Given the description of an element on the screen output the (x, y) to click on. 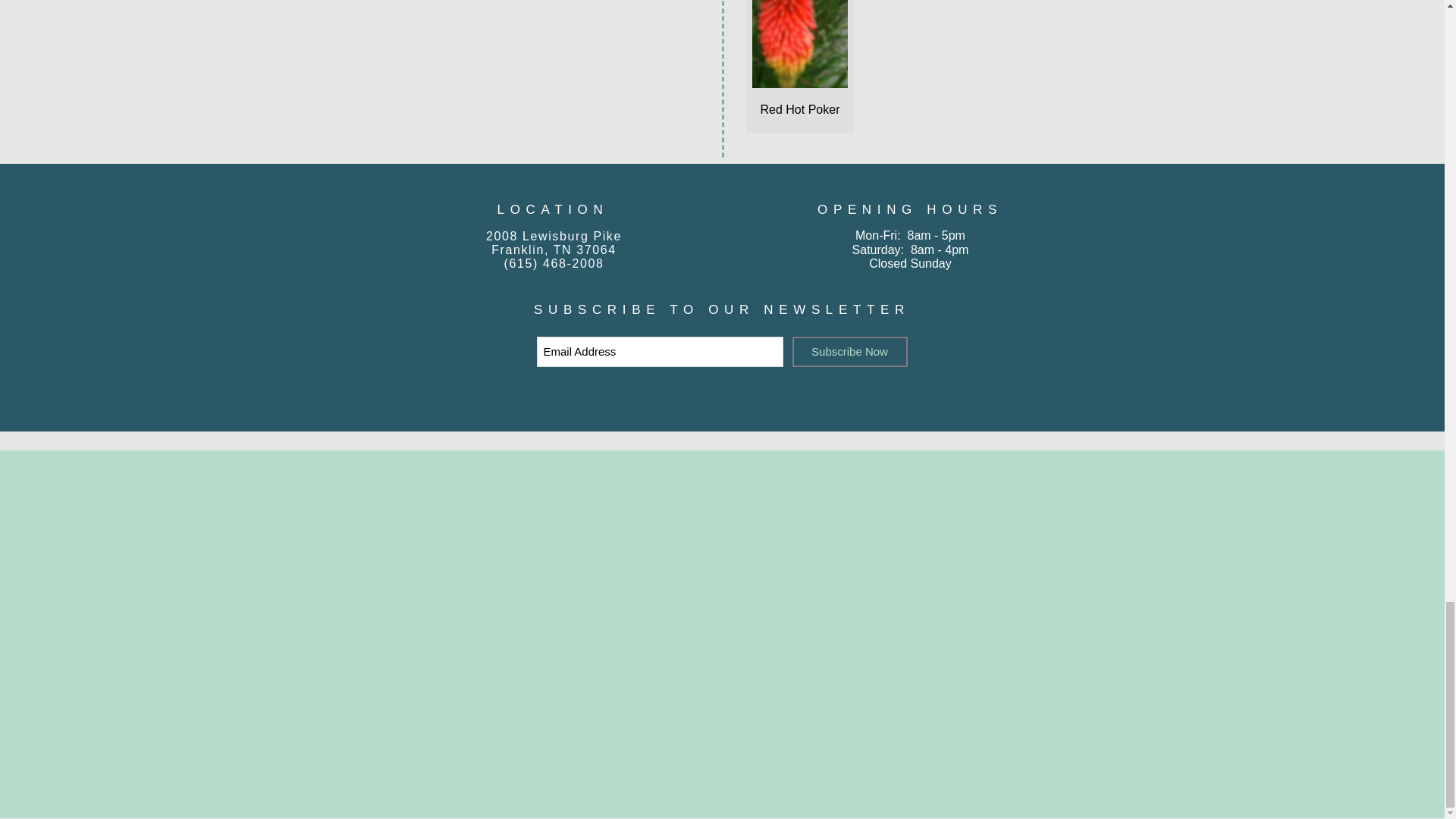
Subscribe Now (849, 351)
